Given the description of an element on the screen output the (x, y) to click on. 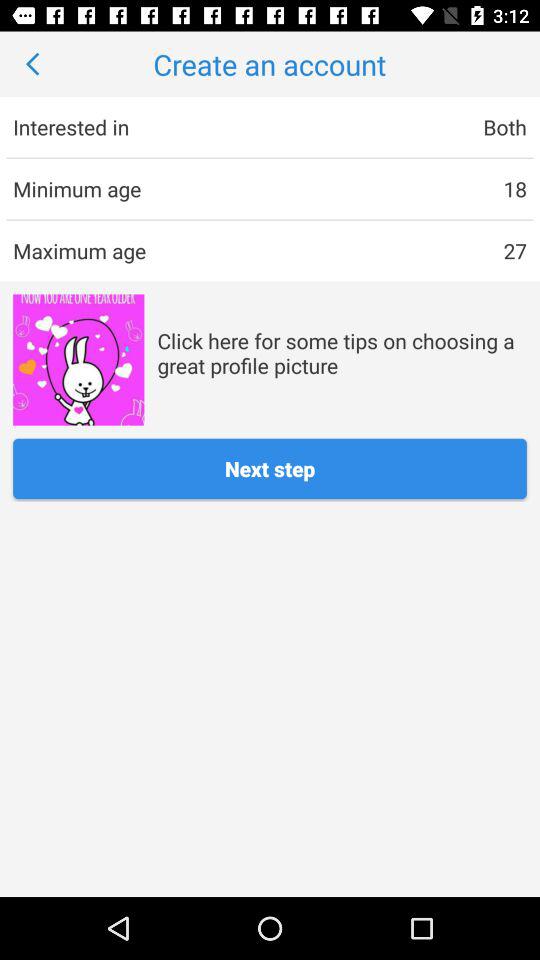
select the app next to the click here for item (78, 359)
